Given the description of an element on the screen output the (x, y) to click on. 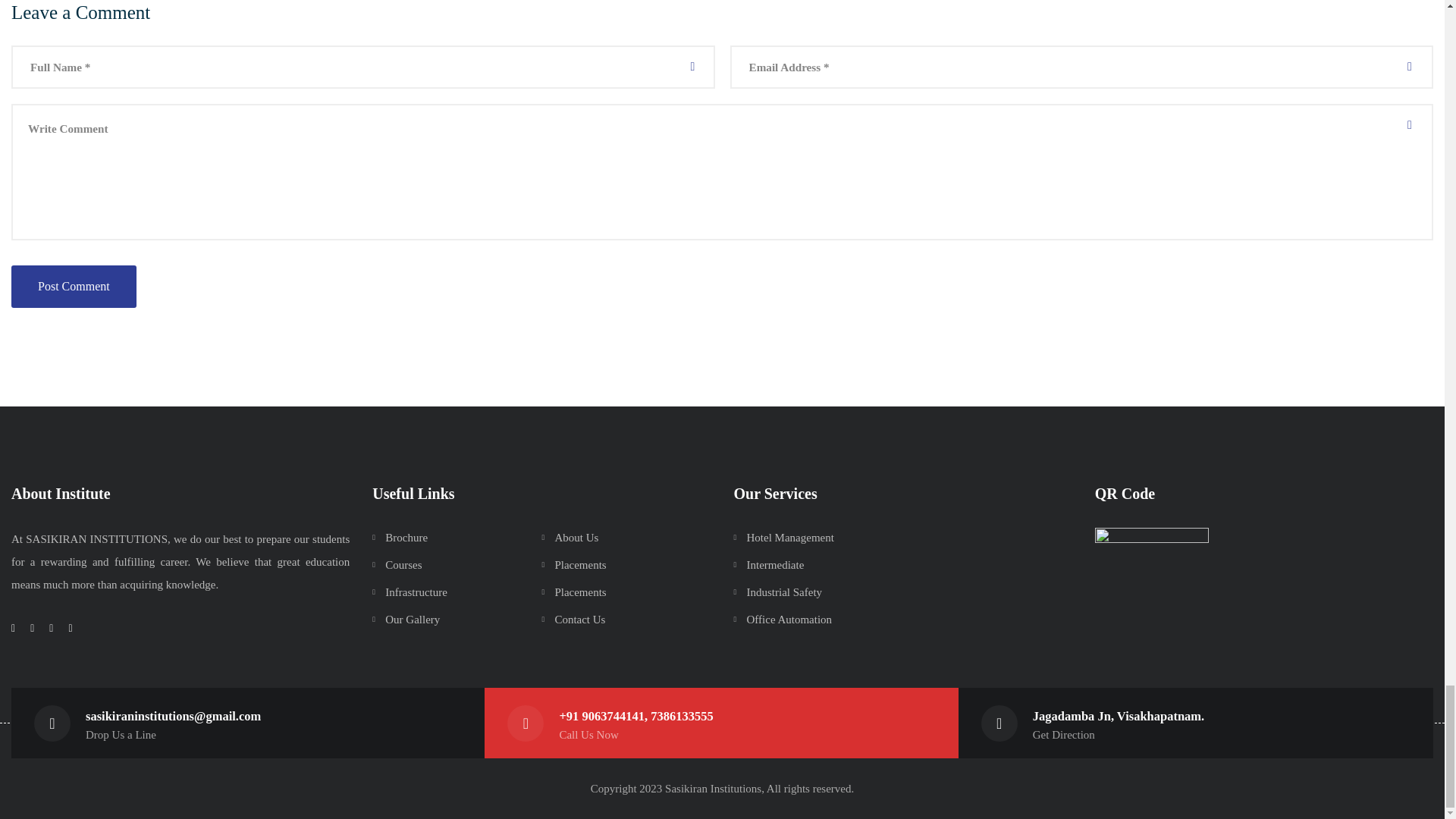
Post Comment (73, 286)
QR Code (1151, 584)
